Given the description of an element on the screen output the (x, y) to click on. 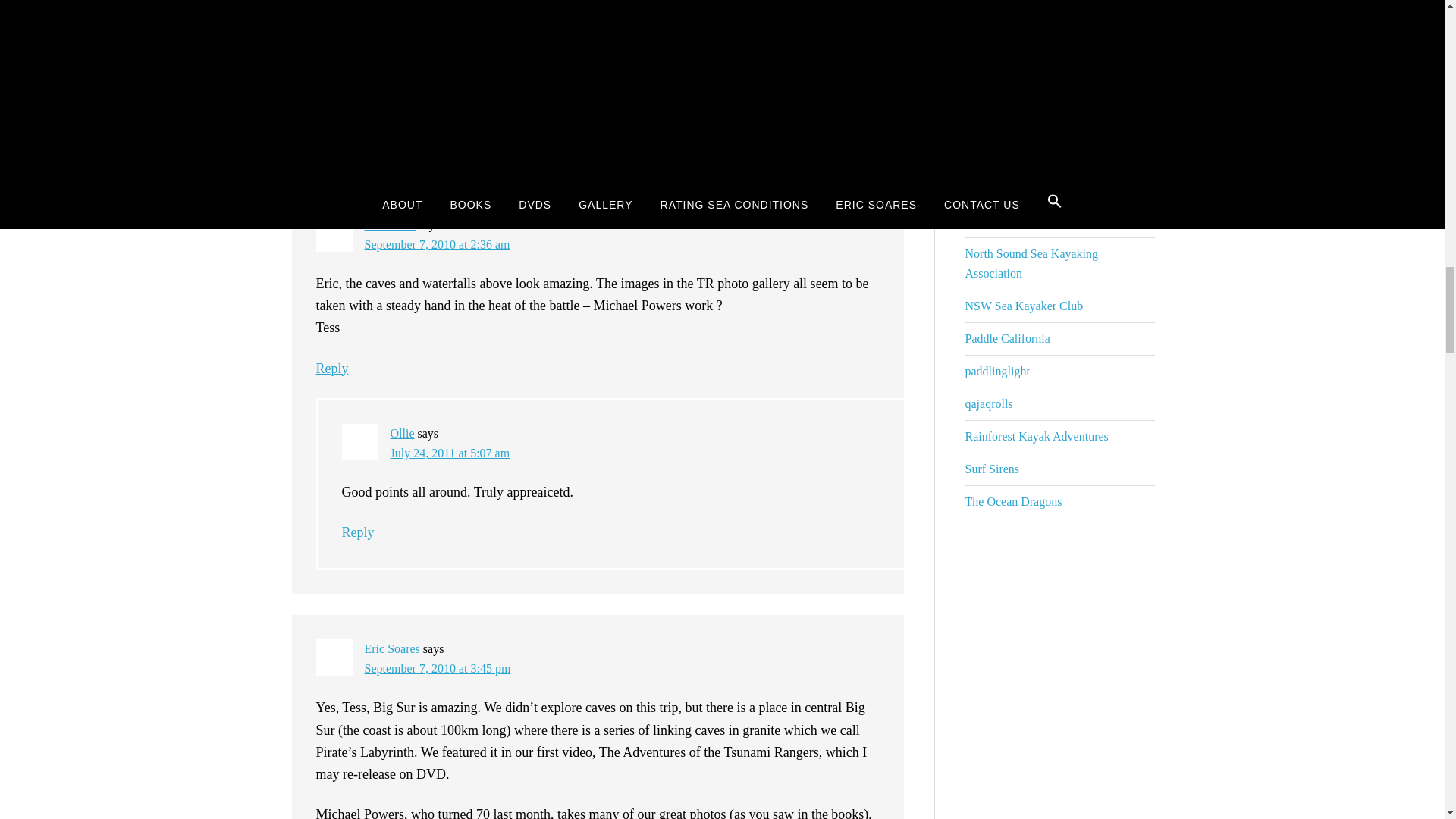
Reply (331, 133)
Eric Soares (391, 11)
Tess Dodd (389, 224)
August 31, 2010 at 1:00 am (431, 31)
September 7, 2010 at 2:36 am (436, 244)
